Given the description of an element on the screen output the (x, y) to click on. 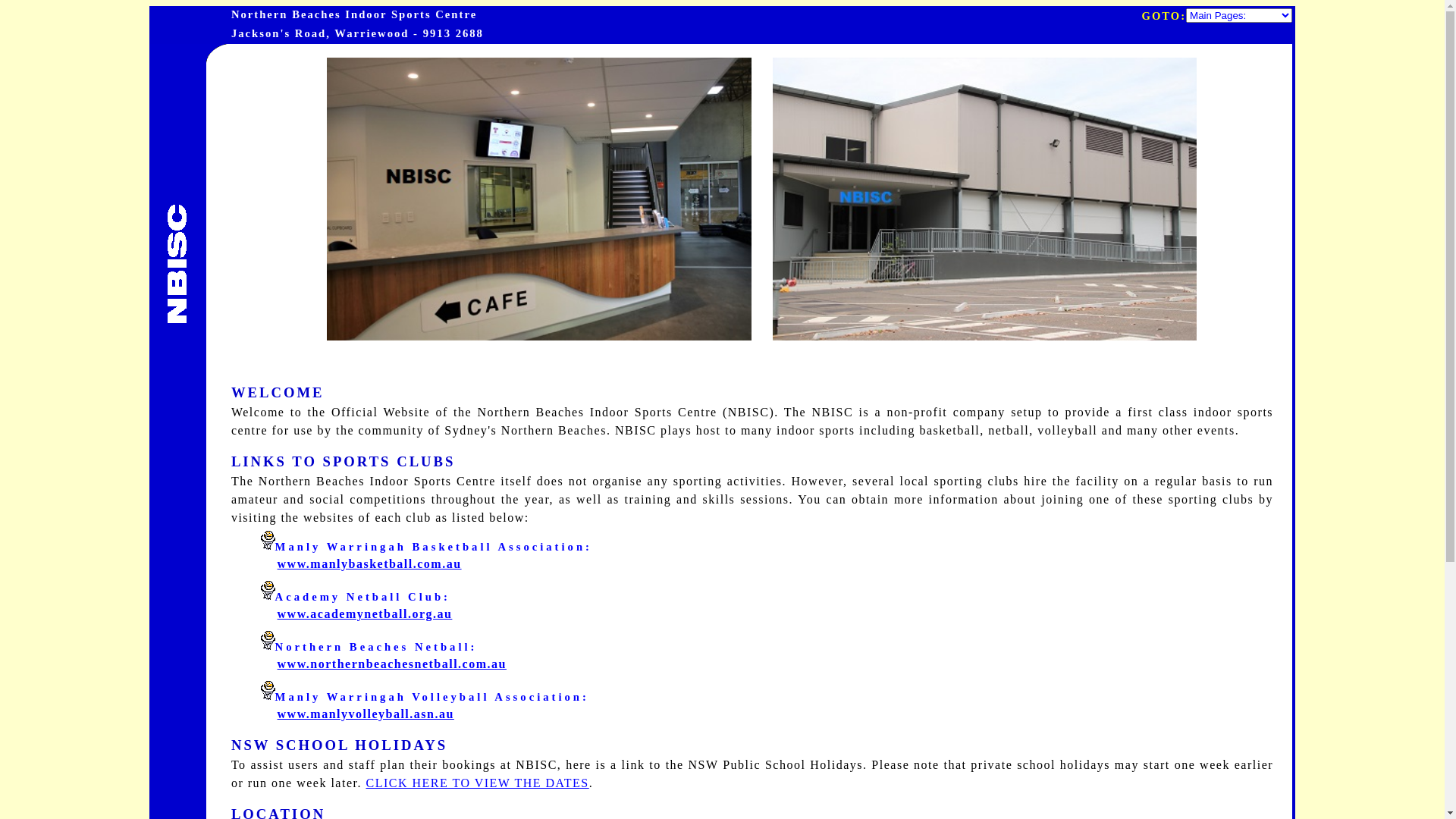
www.manlyvolleyball.asn.au Element type: text (365, 713)
CLICK HERE TO VIEW THE DATES Element type: text (476, 782)
www.academynetball.org.au Element type: text (364, 613)
www.northernbeachesnetball.com.au Element type: text (391, 663)
www.manlybasketball.com.au Element type: text (369, 563)
